Given the description of an element on the screen output the (x, y) to click on. 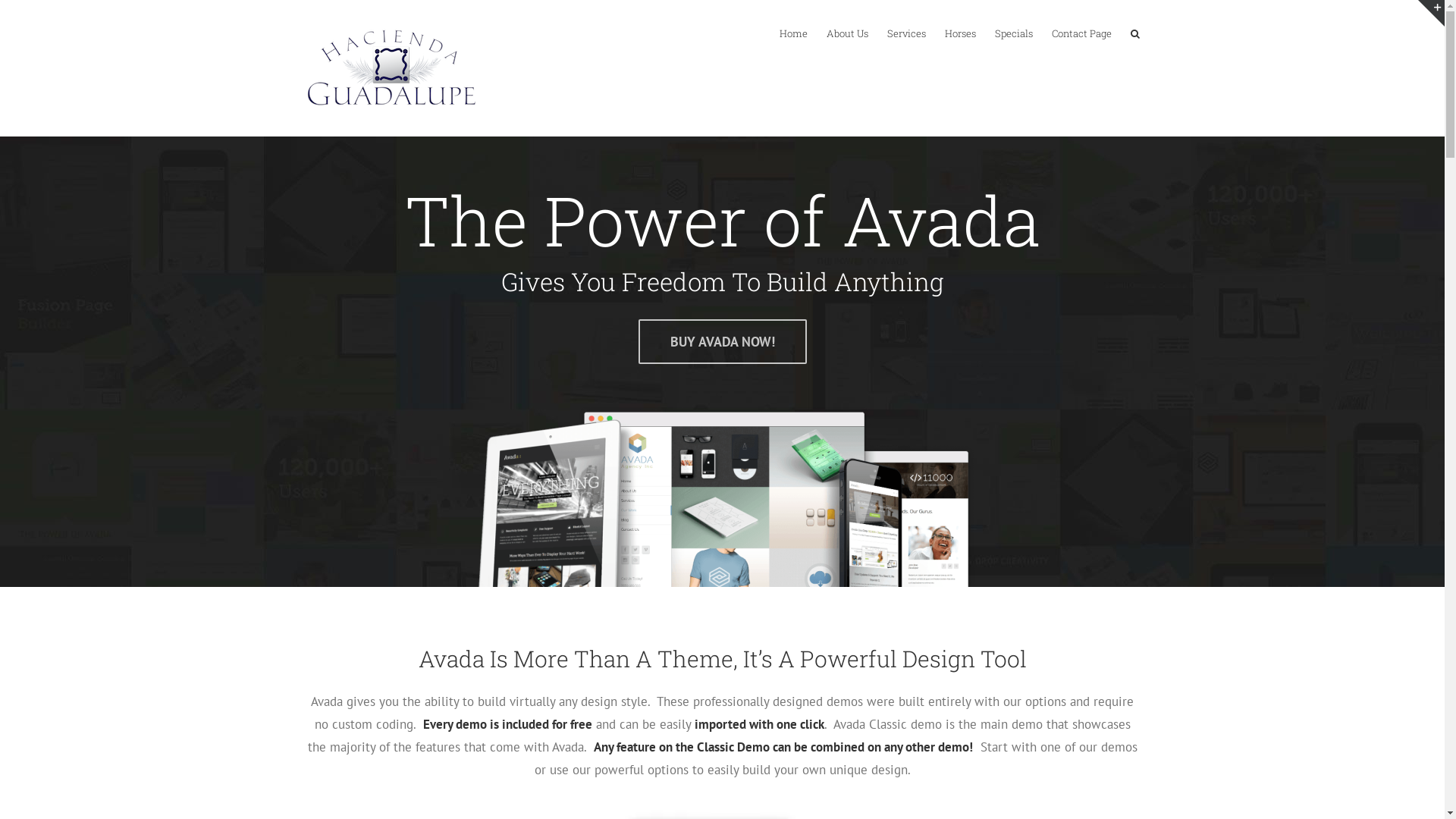
Every demo is included for free Element type: text (507, 723)
About Us Element type: text (847, 32)
Horses Element type: text (959, 32)
imported with one click Element type: text (759, 723)
BUY AVADA NOW! Element type: text (722, 341)
Services Element type: text (906, 32)
Specials Element type: text (1013, 32)
Home Element type: text (793, 32)
Contact Page Element type: text (1080, 32)
